Given the description of an element on the screen output the (x, y) to click on. 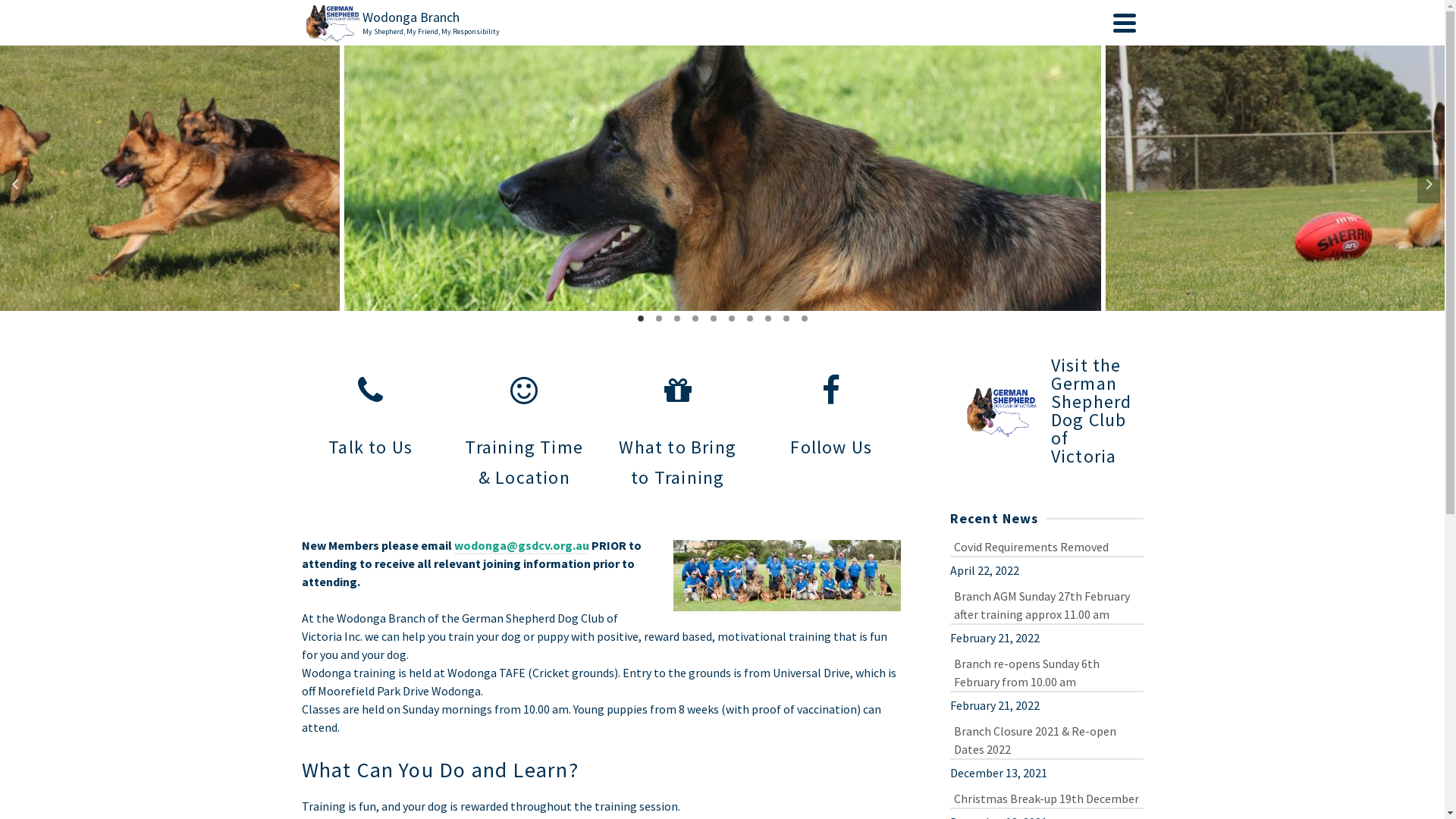
9 Element type: text (785, 318)
4 Element type: text (694, 318)
1 Element type: text (639, 318)
wodonga@gsdcv.org.au Element type: text (520, 545)
3 Element type: text (676, 318)
Follow Us Element type: text (831, 408)
5 Element type: text (712, 318)
Previous Element type: text (15, 184)
Covid Requirements Removed Element type: text (1045, 545)
Christmas Break-up 19th December Element type: text (1045, 797)
Talk to Us Element type: text (370, 408)
7 Element type: text (748, 318)
What to Bring to Training Element type: text (677, 423)
Branch re-opens Sunday 6th February from 10.00 am Element type: text (1045, 671)
Wodonga Branch
My Shepherd, My Friend, My Responsibility Element type: text (703, 22)
Visit the German Shepherd Dog Club of Victoria Element type: text (1045, 410)
6 Element type: text (730, 318)
Next Element type: text (1428, 184)
8 Element type: text (767, 318)
10 Element type: text (803, 318)
Training Time & Location Element type: text (524, 423)
2 Element type: text (657, 318)
Branch Closure 2021 & Re-open Dates 2022 Element type: text (1045, 738)
